Given the description of an element on the screen output the (x, y) to click on. 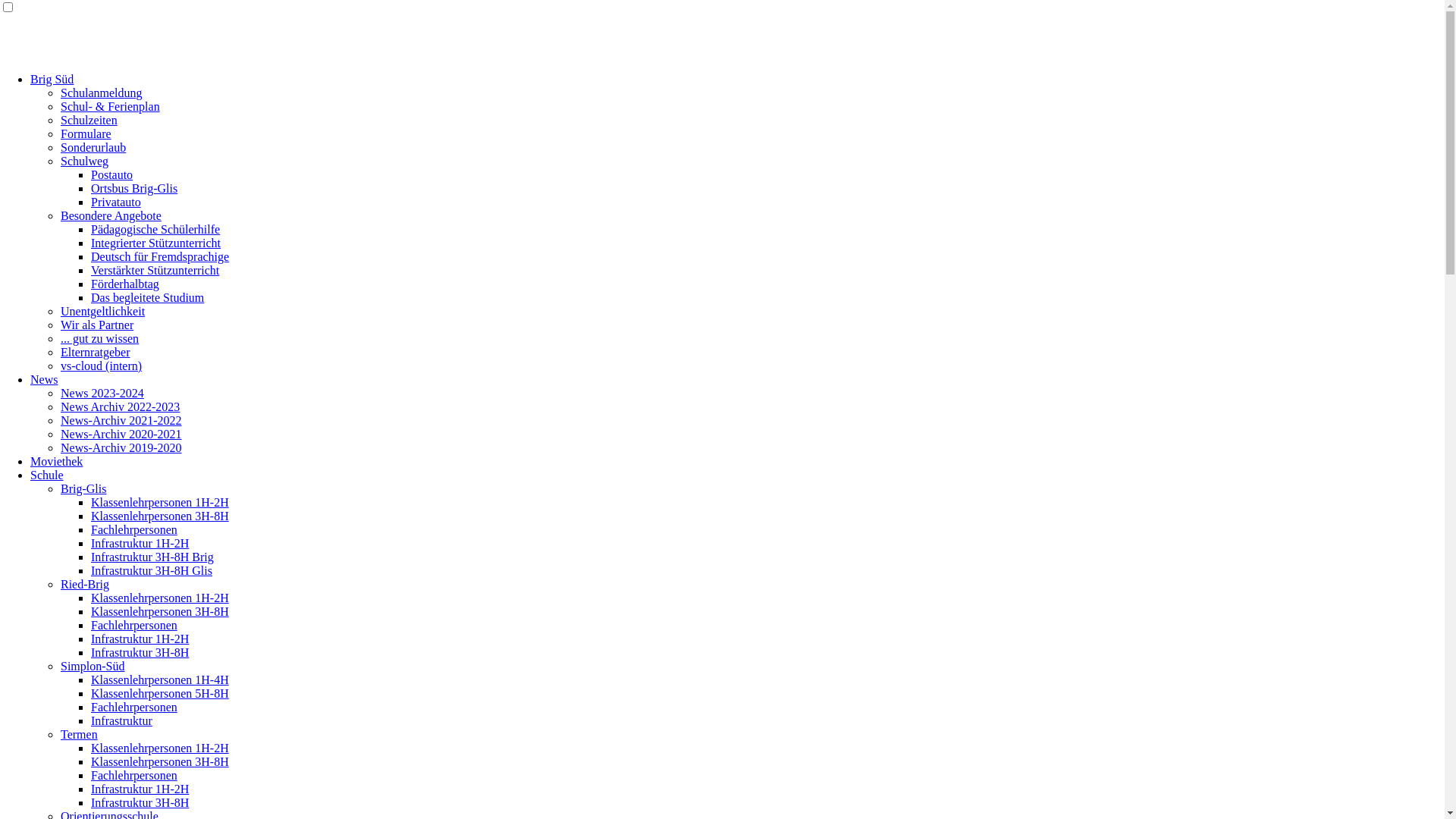
Unentgeltlichkeit Element type: text (102, 310)
Infrastruktur 3H-8H Element type: text (139, 802)
Klassenlehrpersonen 5H-8H Element type: text (160, 693)
Wir als Partner Element type: text (96, 324)
Klassenlehrpersonen 1H-2H Element type: text (160, 597)
Klassenlehrpersonen 1H-2H Element type: text (160, 747)
Schulzeiten Element type: text (88, 119)
Besondere Angebote Element type: text (110, 215)
Ried-Brig Element type: text (84, 583)
Klassenlehrpersonen 1H-4H Element type: text (160, 679)
Elternratgeber Element type: text (95, 351)
Infrastruktur 3H-8H Brig Element type: text (152, 556)
Schulweg Element type: text (84, 160)
Infrastruktur 1H-2H Element type: text (139, 542)
Formulare Element type: text (85, 133)
Fachlehrpersonen Element type: text (134, 529)
Infrastruktur 1H-2H Element type: text (139, 638)
Infrastruktur 3H-8H Glis Element type: text (151, 570)
... gut zu wissen Element type: text (99, 338)
Sonderurlaub Element type: text (92, 147)
Klassenlehrpersonen 1H-2H Element type: text (160, 501)
Infrastruktur Element type: text (121, 720)
Klassenlehrpersonen 3H-8H Element type: text (160, 761)
News Element type: text (43, 379)
Klassenlehrpersonen 3H-8H Element type: text (160, 515)
News-Archiv 2019-2020 Element type: text (121, 447)
Schulanmeldung Element type: text (101, 92)
Infrastruktur 1H-2H Element type: text (139, 788)
News 2023-2024 Element type: text (102, 392)
Schule Element type: text (46, 474)
Termen Element type: text (78, 734)
Schul- & Ferienplan Element type: text (110, 106)
Moviethek Element type: text (56, 461)
Privatauto Element type: text (116, 201)
Fachlehrpersonen Element type: text (134, 624)
News Archiv 2022-2023 Element type: text (119, 406)
Fachlehrpersonen Element type: text (134, 774)
Das begleitete Studium Element type: text (147, 297)
Infrastruktur 3H-8H Element type: text (139, 652)
News-Archiv 2021-2022 Element type: text (121, 420)
vs-cloud (intern) Element type: text (100, 365)
Klassenlehrpersonen 3H-8H Element type: text (160, 611)
Brig-Glis Element type: text (83, 488)
Postauto Element type: text (111, 174)
Fachlehrpersonen Element type: text (134, 706)
News-Archiv 2020-2021 Element type: text (121, 433)
Ortsbus Brig-Glis Element type: text (134, 188)
